Given the description of an element on the screen output the (x, y) to click on. 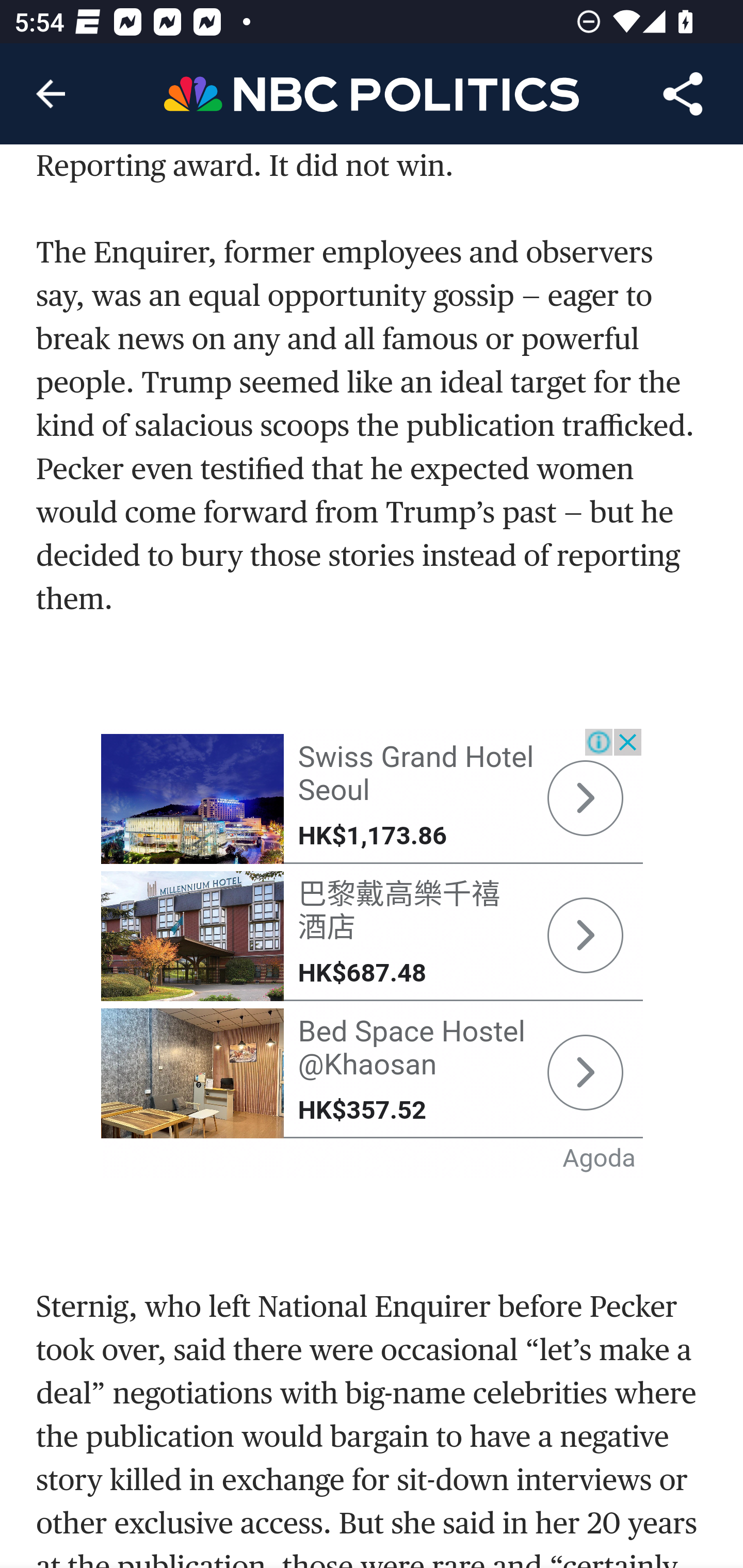
Navigate up (50, 93)
Share Article, button (683, 94)
Header, NBC Politics (371, 93)
partnersearch (193, 800)
Swiss Grand Hotel Seoul Swiss Grand Hotel Seoul (415, 775)
partnersearch (584, 799)
HK$1,173.86 (372, 836)
partnersearch (193, 937)
巴黎戴高樂千禧 酒店 巴黎戴高樂千禧 酒店 (399, 912)
partnersearch (584, 936)
HK$687.48 (361, 974)
partnersearch (193, 1074)
partnersearch (584, 1073)
HK$357.52 (361, 1111)
Agoda (599, 1159)
